Given the description of an element on the screen output the (x, y) to click on. 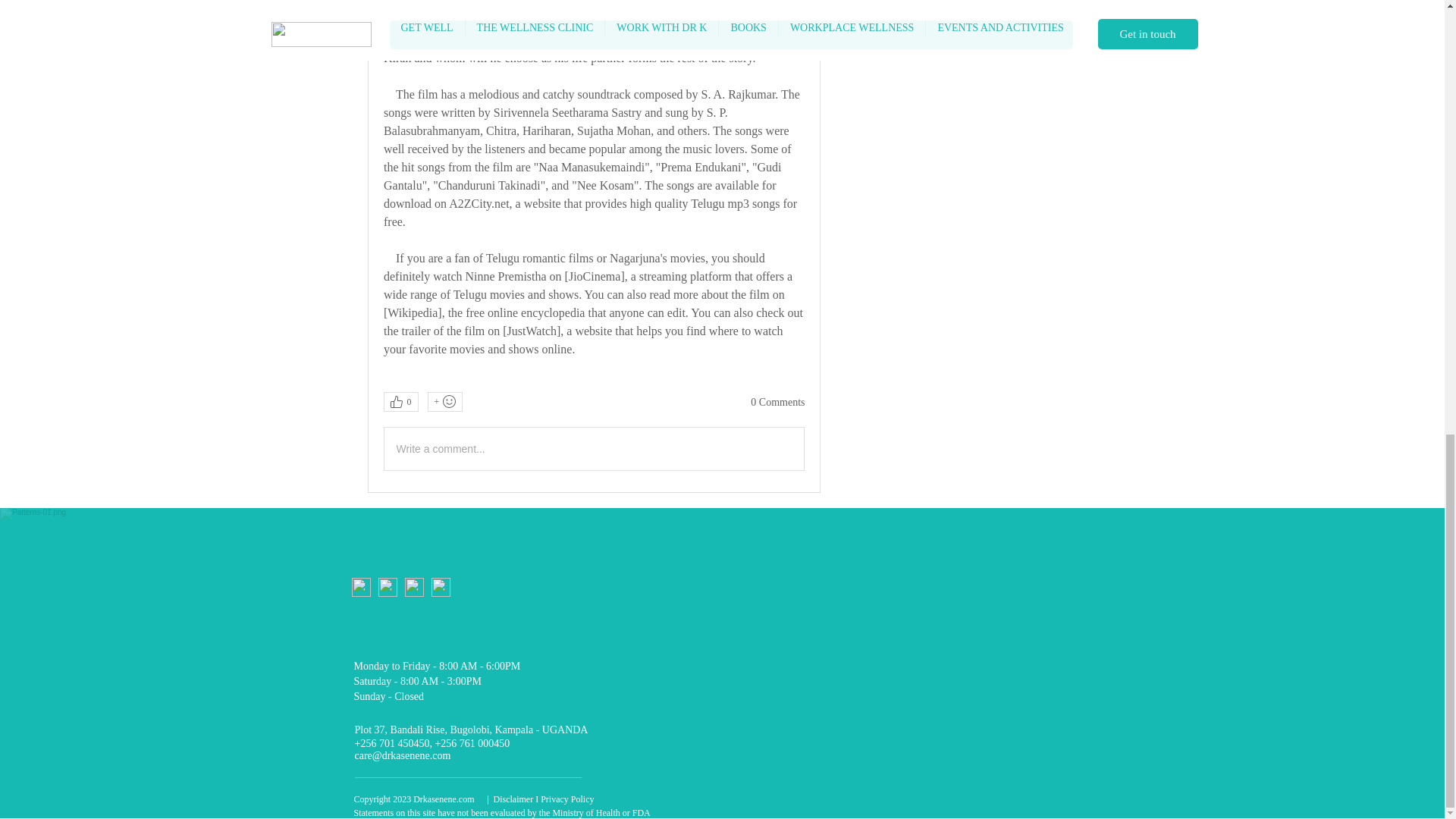
0 Comments (778, 402)
Write a comment... (593, 448)
